Given the description of an element on the screen output the (x, y) to click on. 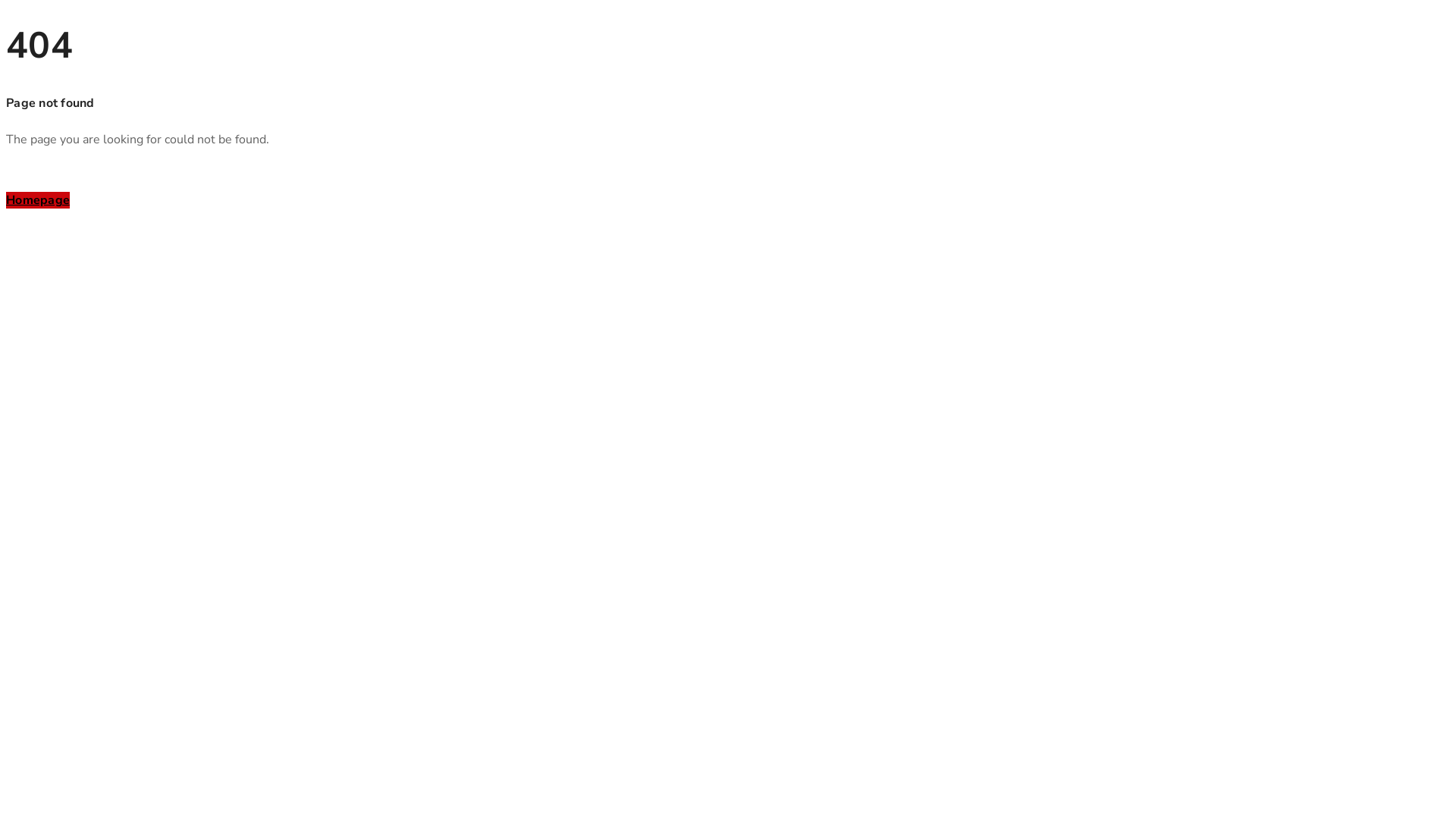
Homepage Element type: text (37, 199)
